Given the description of an element on the screen output the (x, y) to click on. 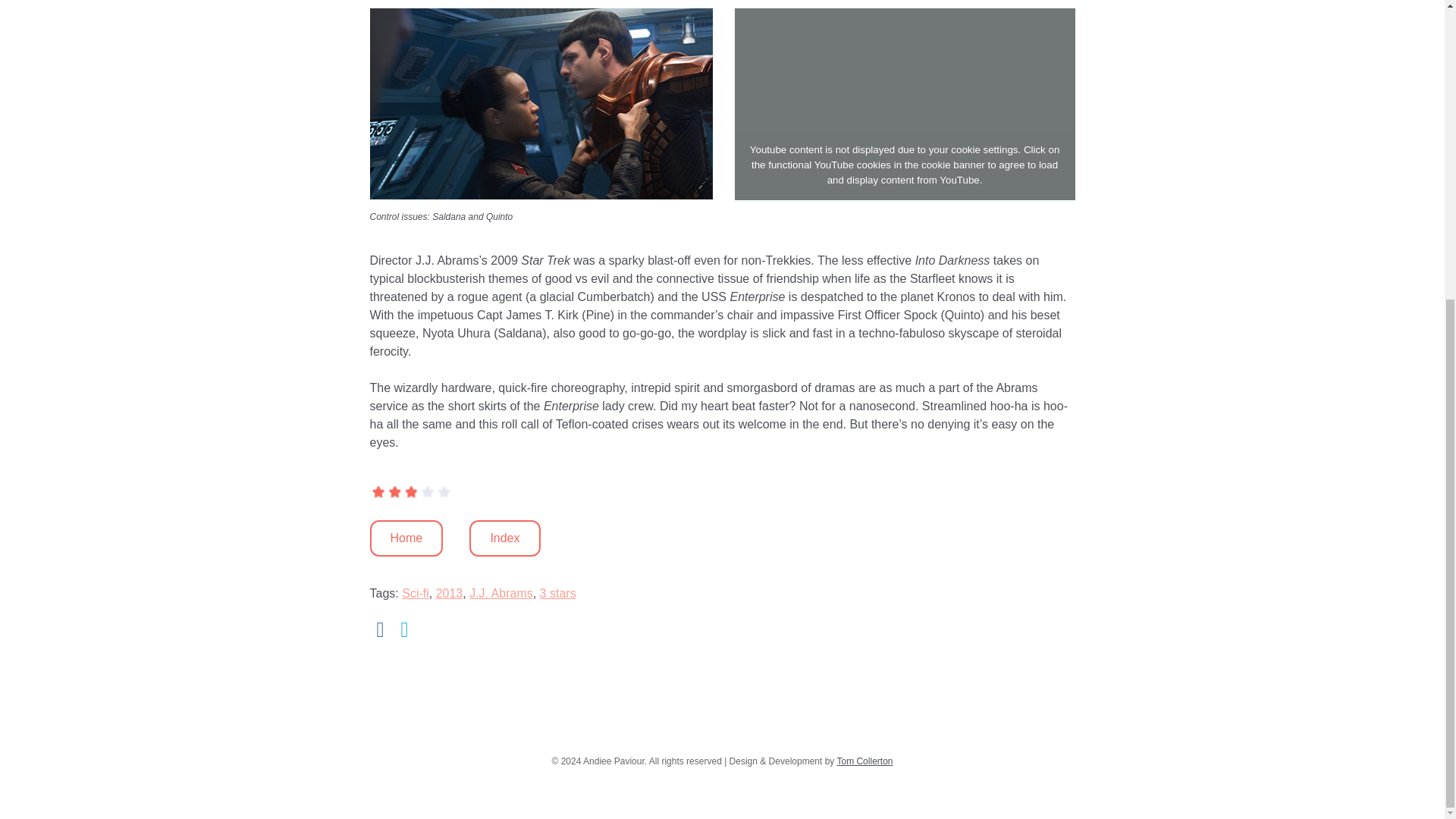
functional YouTube cookies in the cookie banner (876, 163)
Home (406, 538)
2013 (449, 593)
Twitter (404, 629)
Index (504, 538)
J.J. Abrams (500, 593)
tomcollerton.com (863, 760)
3 stars (558, 593)
Facebook (380, 629)
Tom Collerton (863, 760)
